Given the description of an element on the screen output the (x, y) to click on. 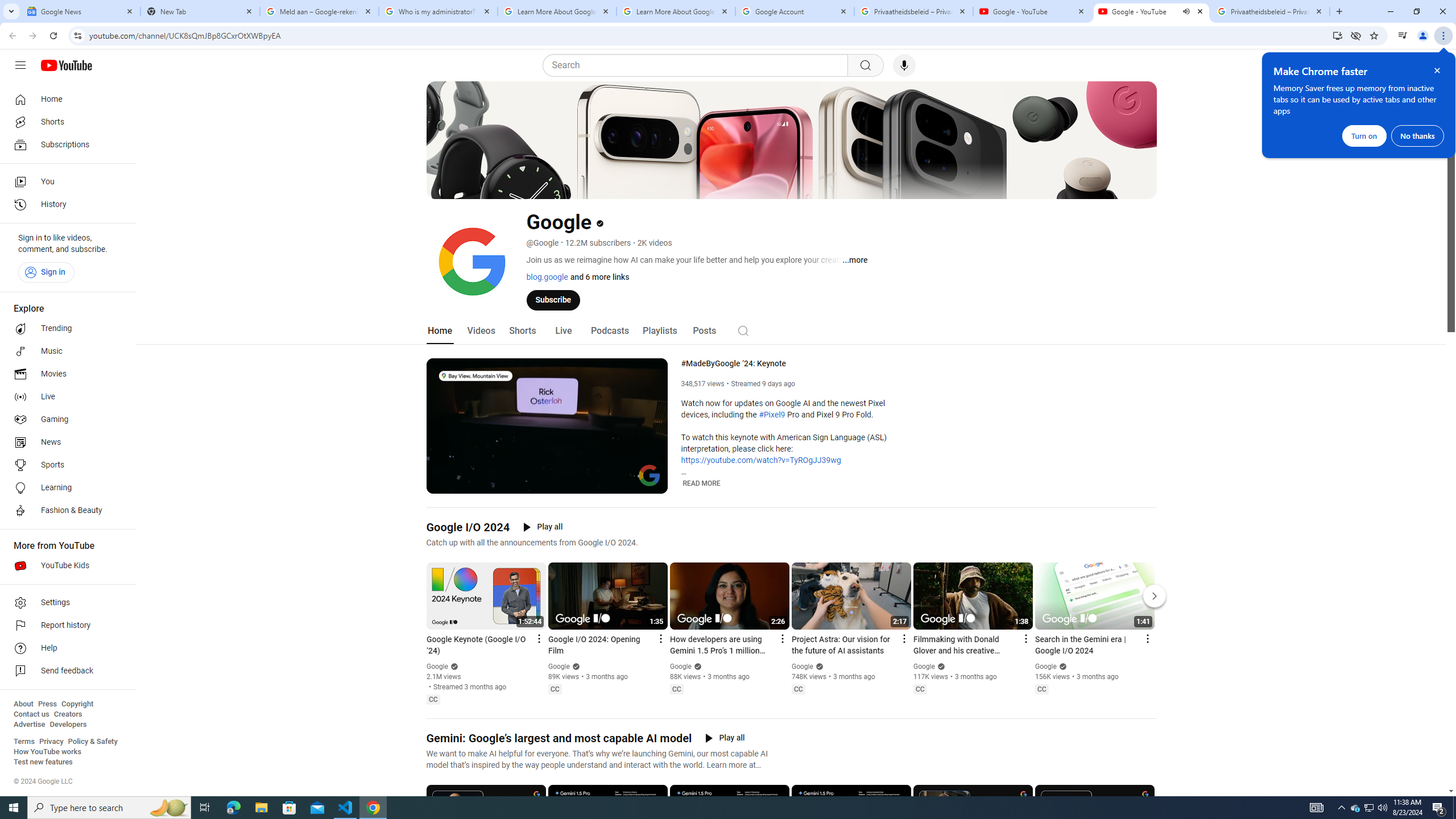
Play all (724, 738)
Music (64, 350)
History (64, 204)
Shorts (521, 330)
Test new features (42, 761)
Learning (64, 487)
YouTube Home (66, 65)
Search with your voice (903, 65)
